Given the description of an element on the screen output the (x, y) to click on. 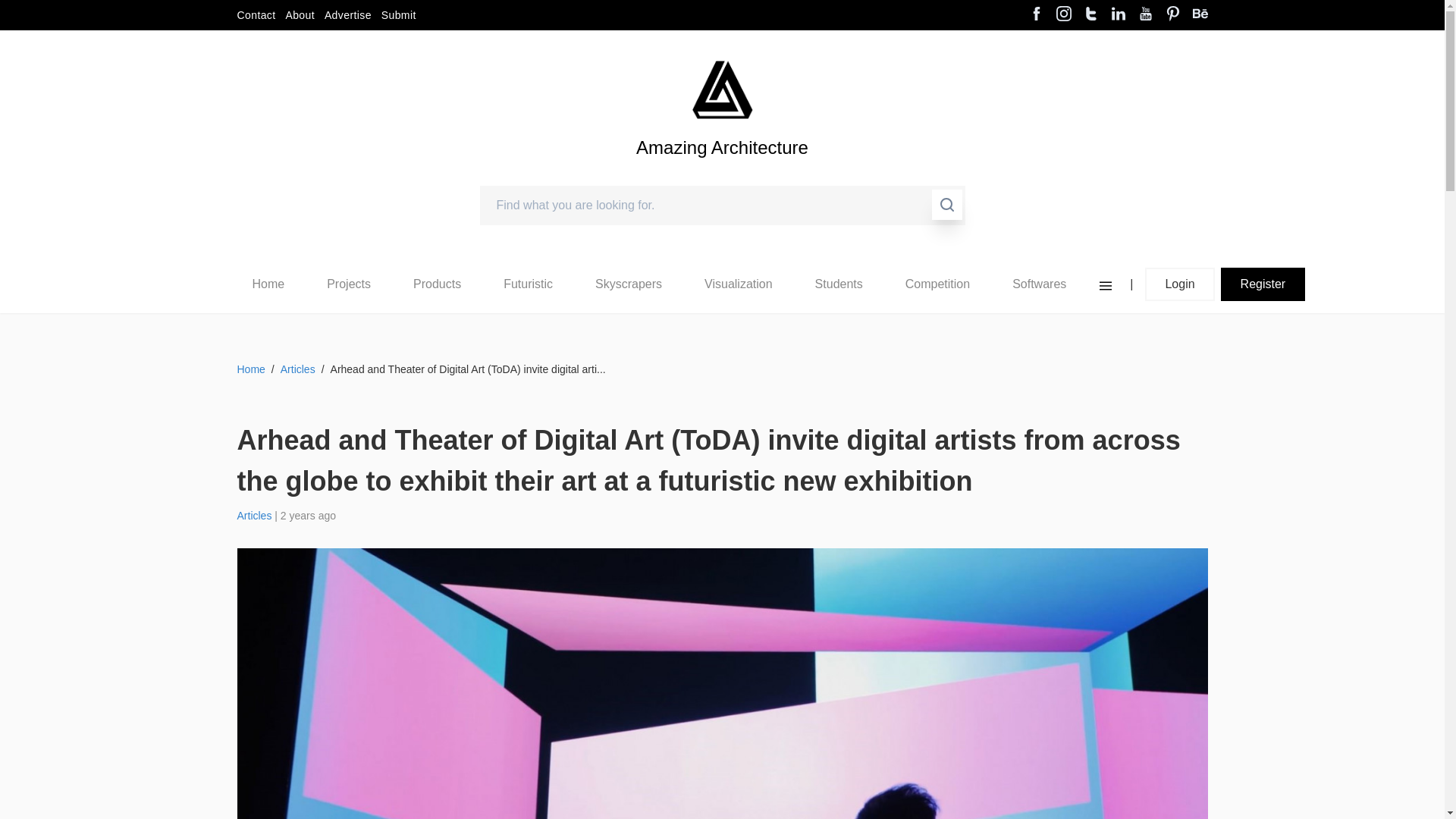
Home (267, 284)
Projects (348, 283)
Projects (348, 283)
About (299, 15)
Home (267, 283)
Contact (255, 15)
Amazing Architecture (721, 88)
About us page (299, 15)
Submit (398, 15)
Advertisement page (347, 15)
Projects (348, 284)
Home (267, 283)
Contact us page (255, 15)
Amazing Architecture (722, 173)
Submit page (398, 15)
